Given the description of an element on the screen output the (x, y) to click on. 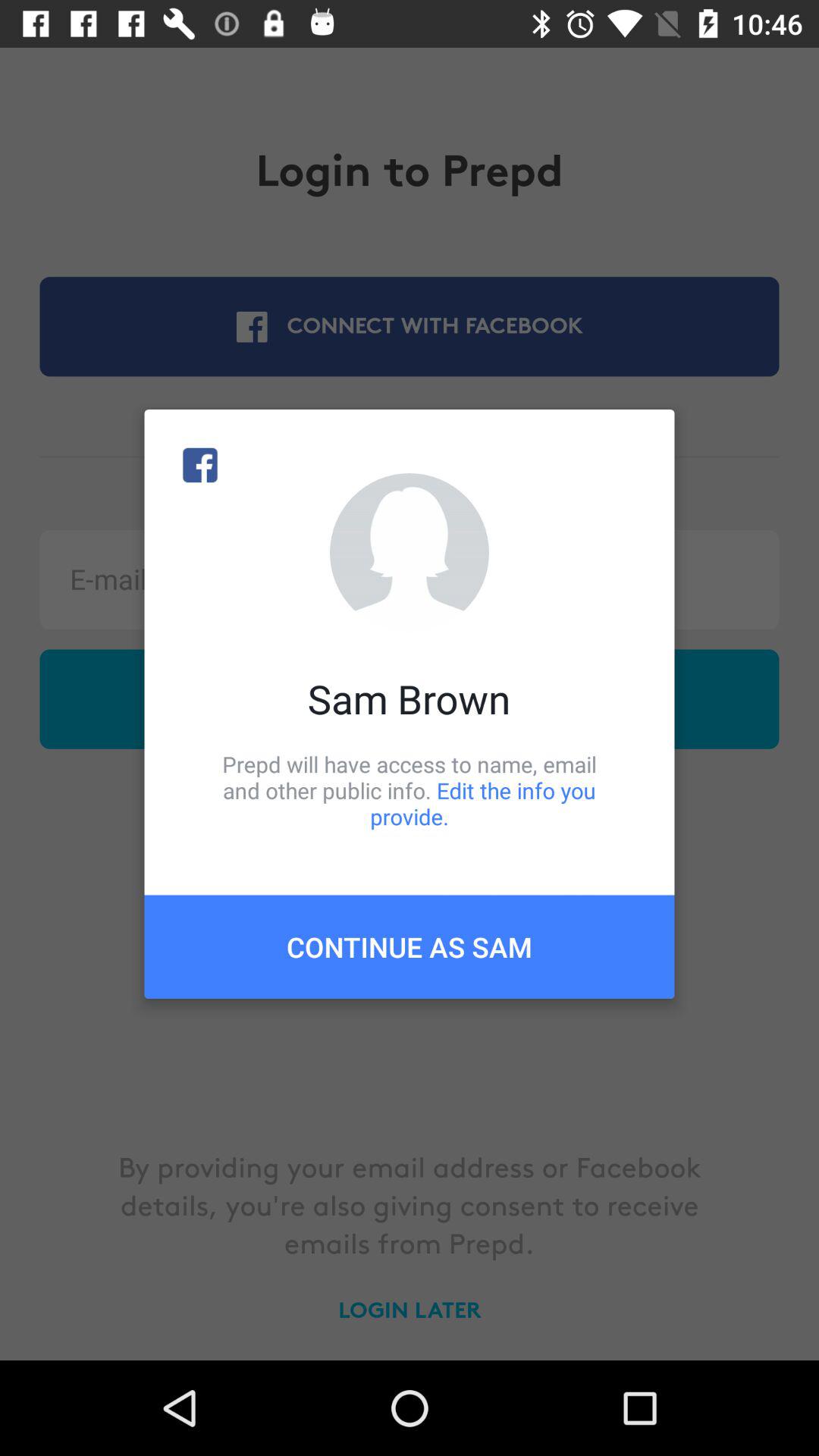
launch the prepd will have icon (409, 790)
